Given the description of an element on the screen output the (x, y) to click on. 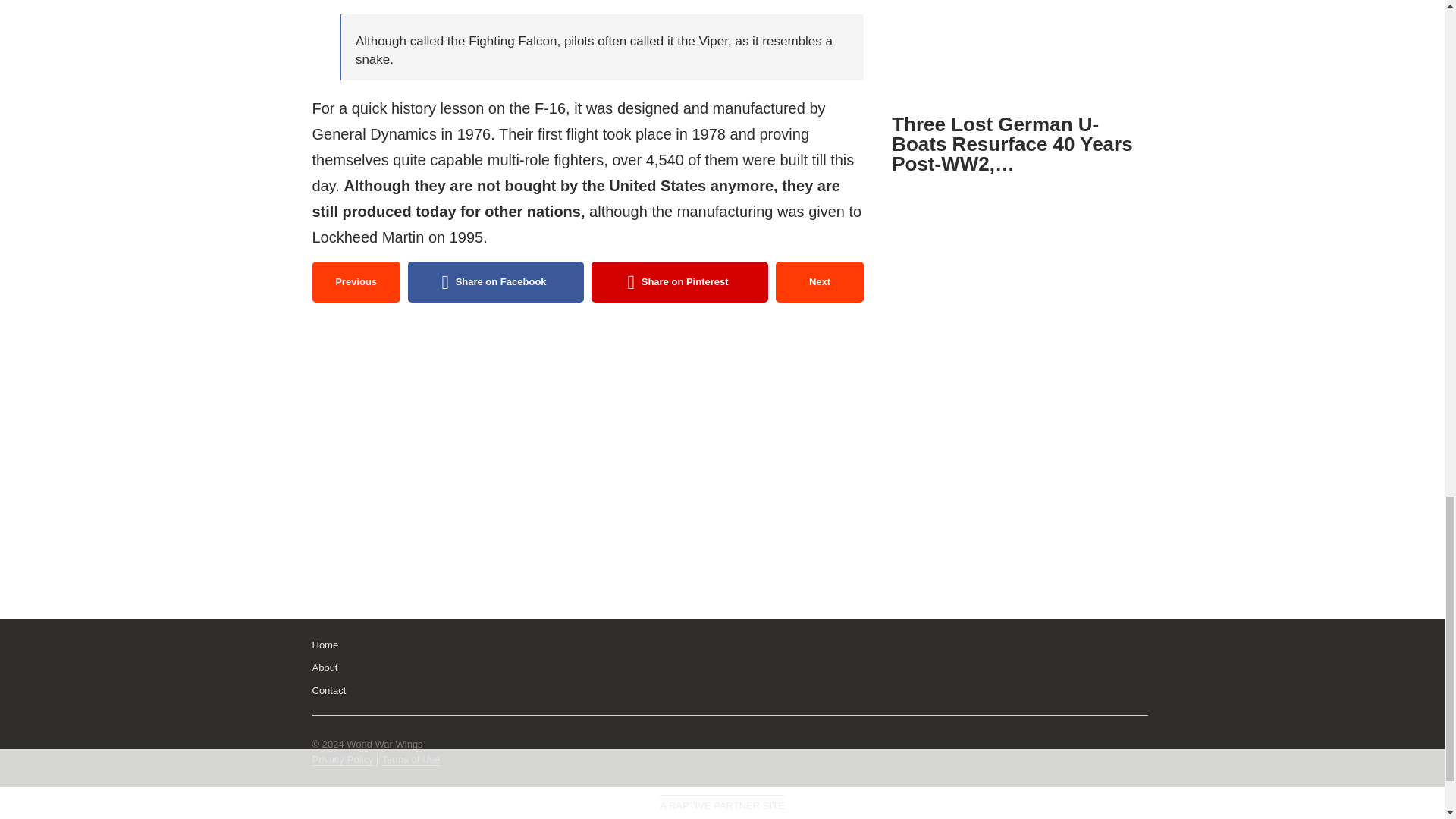
Share on Pinterest (679, 281)
